Given the description of an element on the screen output the (x, y) to click on. 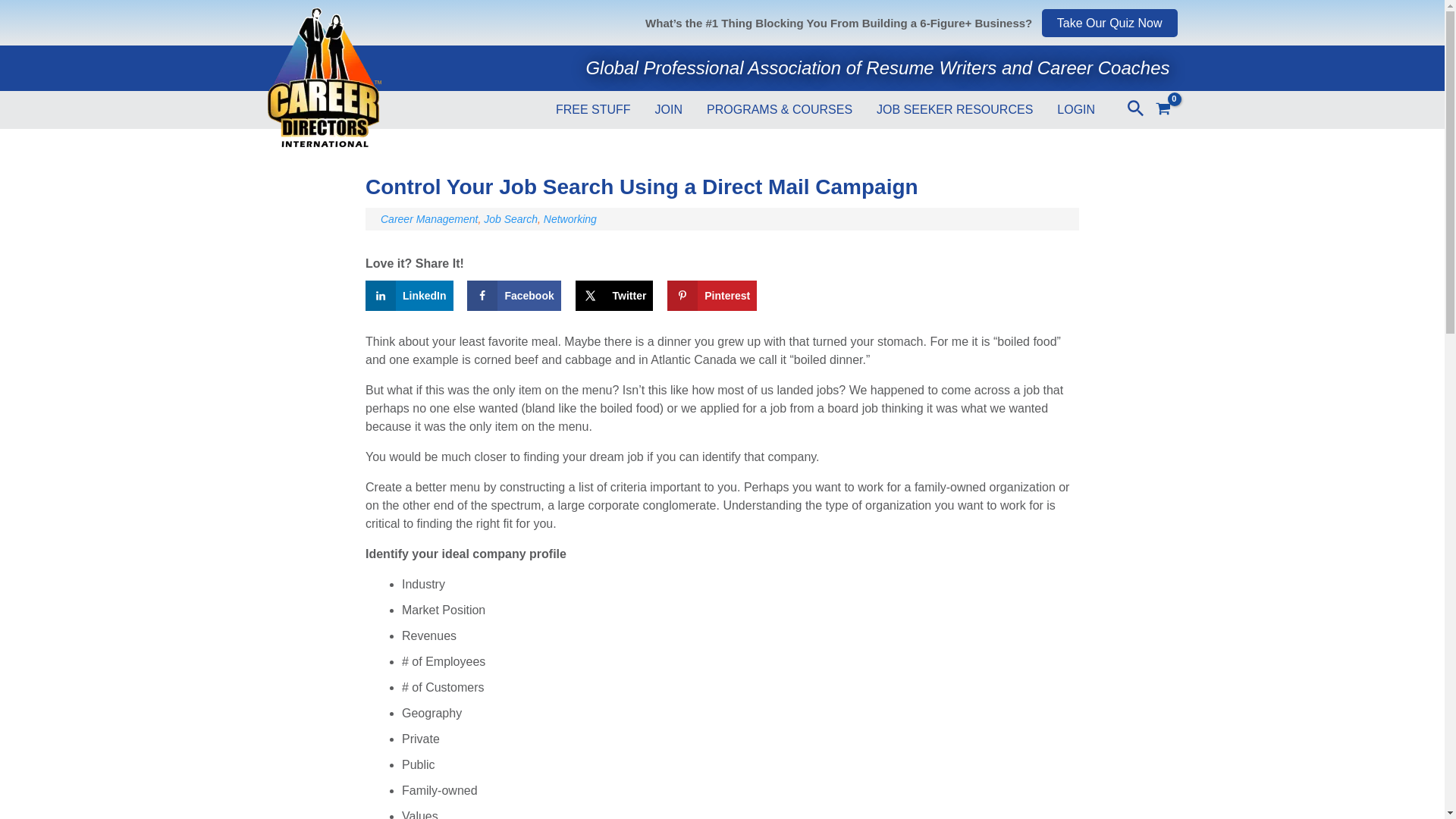
JOIN (668, 106)
LOGIN (1075, 106)
Save to Pinterest (711, 295)
Networking (569, 218)
Take Our Quiz Now (1109, 22)
JOB SEEKER RESOURCES (954, 106)
Pinterest (711, 295)
Share on X (614, 295)
Job Search (510, 218)
Career Management (428, 218)
Share on LinkedIn (408, 295)
Twitter (614, 295)
Facebook (513, 295)
Free Expert Resources for Resume Writers and Career Coaches (593, 106)
Share on Facebook (513, 295)
